Given the description of an element on the screen output the (x, y) to click on. 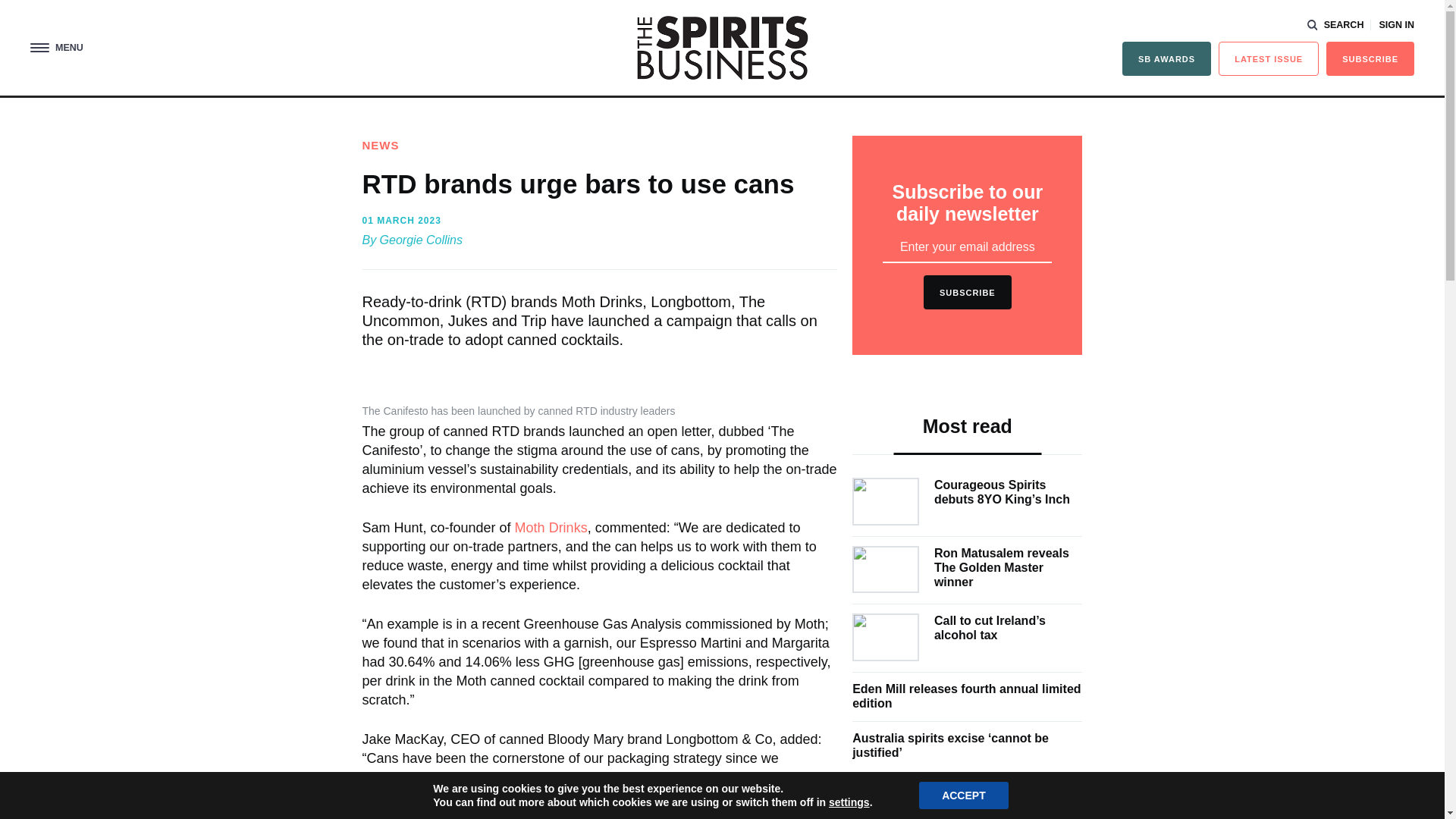
The Spirits Business (722, 47)
LATEST ISSUE (1268, 58)
SIGN IN (1395, 25)
SUBSCRIBE (1369, 58)
SB AWARDS (1166, 58)
